Given the description of an element on the screen output the (x, y) to click on. 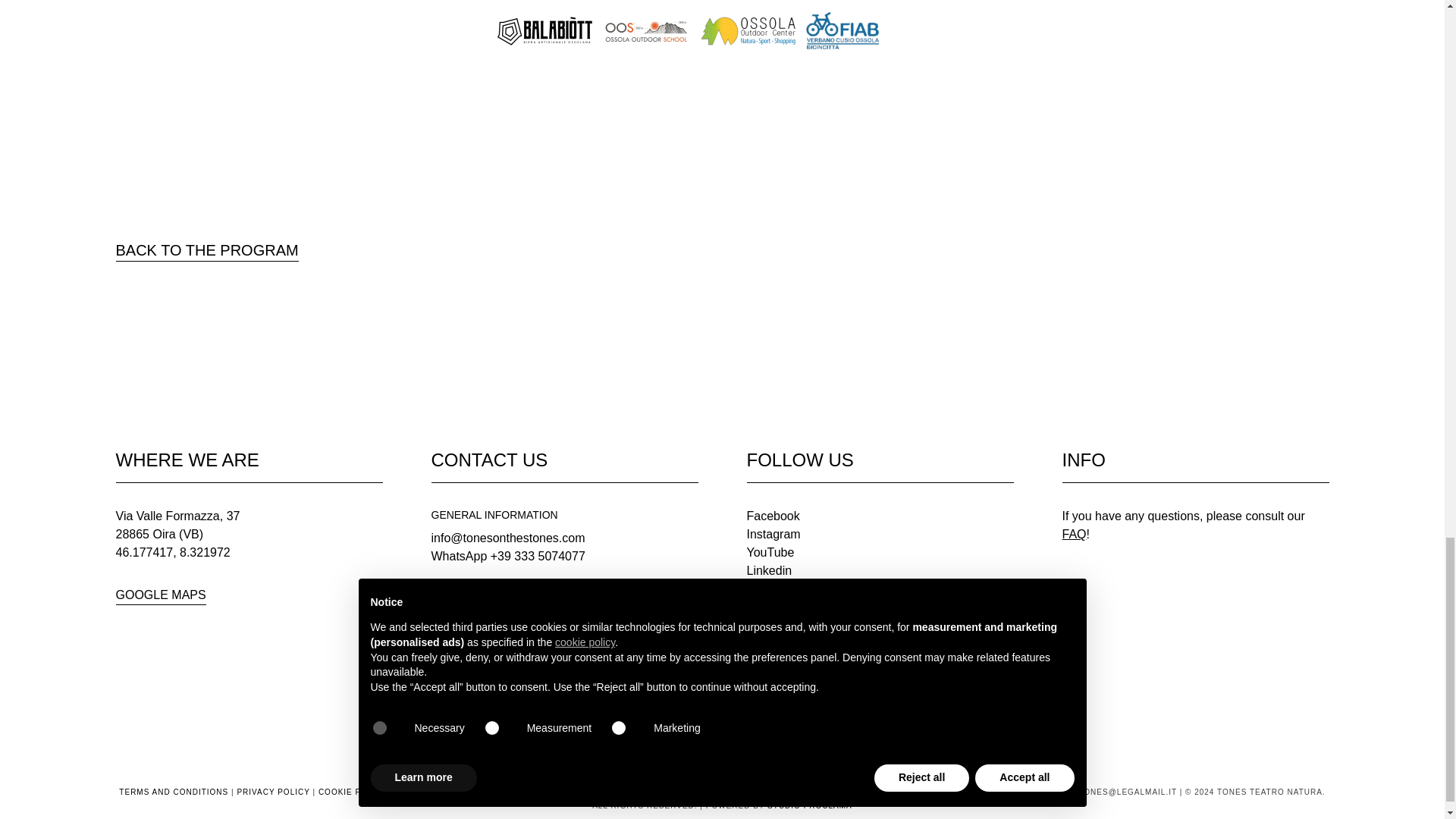
PRIVACY POLICY (271, 791)
YouTube (769, 552)
46.177417, 8.321972 (172, 552)
BACK TO THE PROGRAM (206, 249)
COOKIE POLICY (352, 791)
GOOGLE MAPS (160, 595)
Facebook (772, 515)
Instagram (772, 533)
TERMS AND CONDITIONS (173, 791)
Linkedin (768, 570)
